Given the description of an element on the screen output the (x, y) to click on. 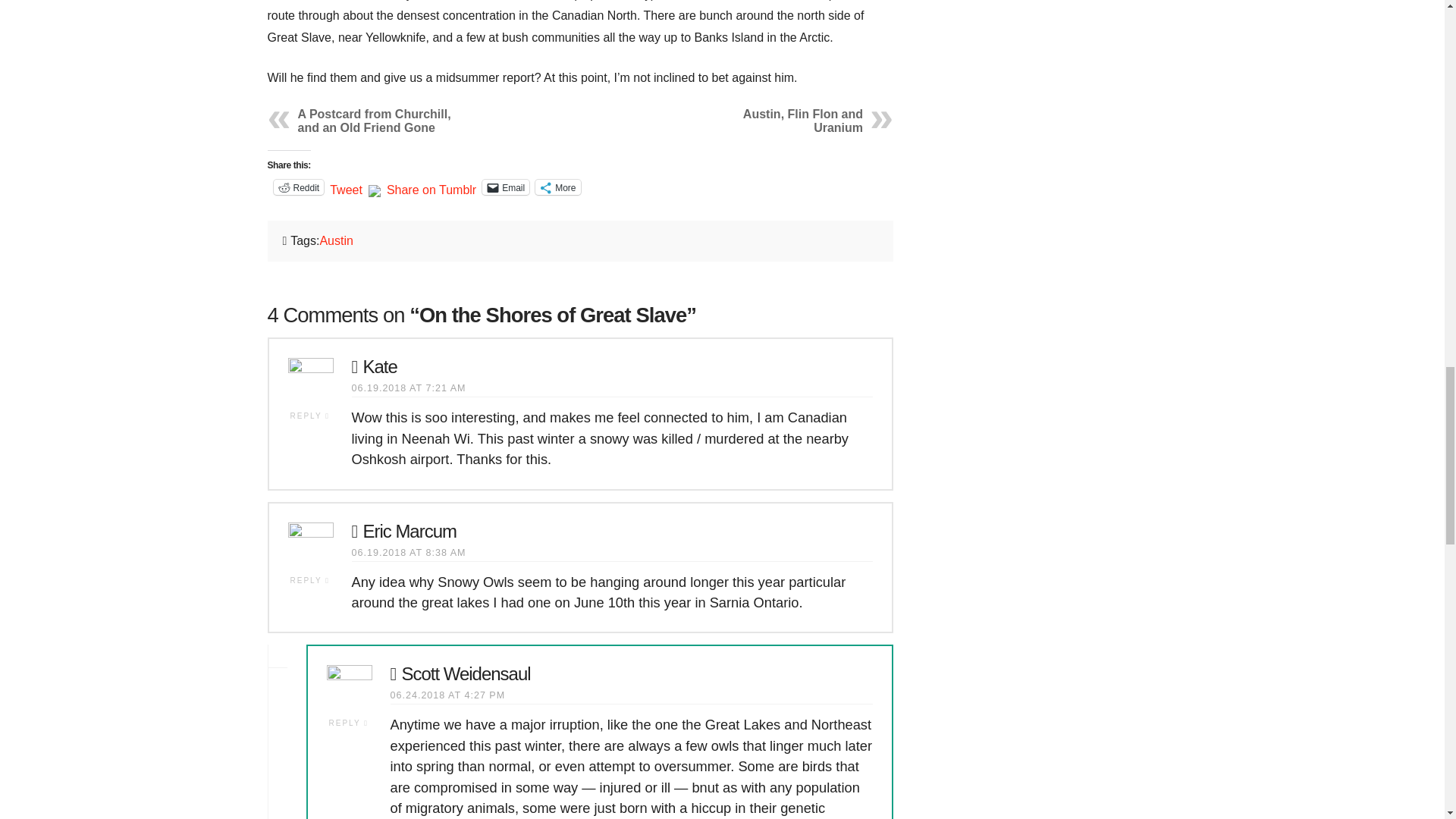
Click to share on Reddit (298, 186)
Click to email a link to a friend (505, 186)
Share on Tumblr (431, 186)
